Given the description of an element on the screen output the (x, y) to click on. 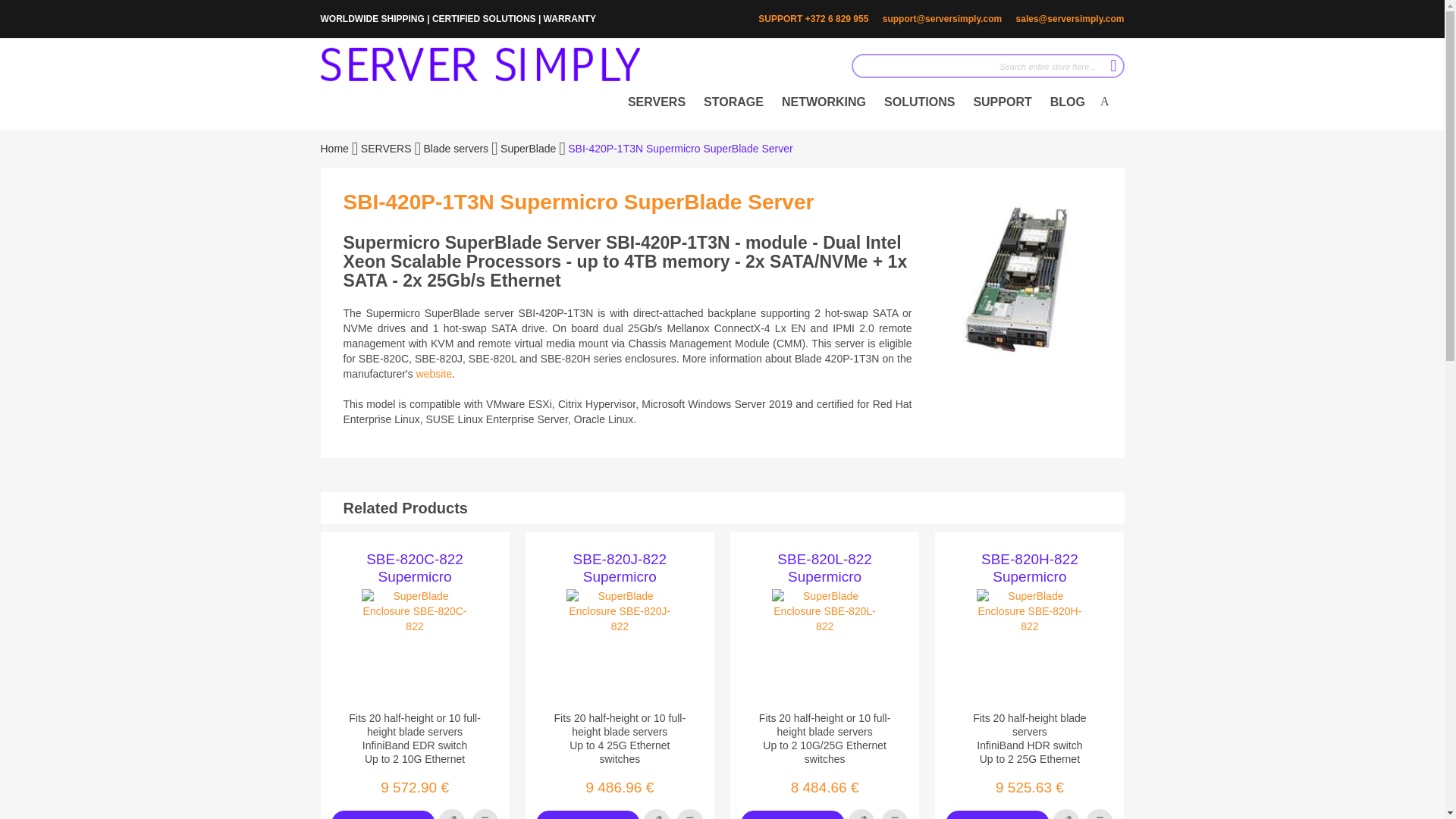
CERTIFIED SOLUTIONS (483, 18)
SBI-420P-1T3N (433, 373)
SERVERS (656, 101)
WORLDWIDE SHIPPING (371, 18)
Go to Home Page (335, 148)
Add to Compare (895, 814)
Add to Compare (484, 814)
SBE-820L-822 Supermicro SuperBlade Enclosure (824, 567)
SBE-820J-822 Supermicro SuperBlade Enclosure (619, 567)
Serversimply (479, 64)
STORAGE (733, 101)
WARRANTY (569, 18)
Add to Compare (1099, 814)
SBE-820C-822 Supermicro SuperBlade Enclosure (414, 567)
SBE-820H-822 Supermicro SuperBlade Enclosure (1029, 567)
